Given the description of an element on the screen output the (x, y) to click on. 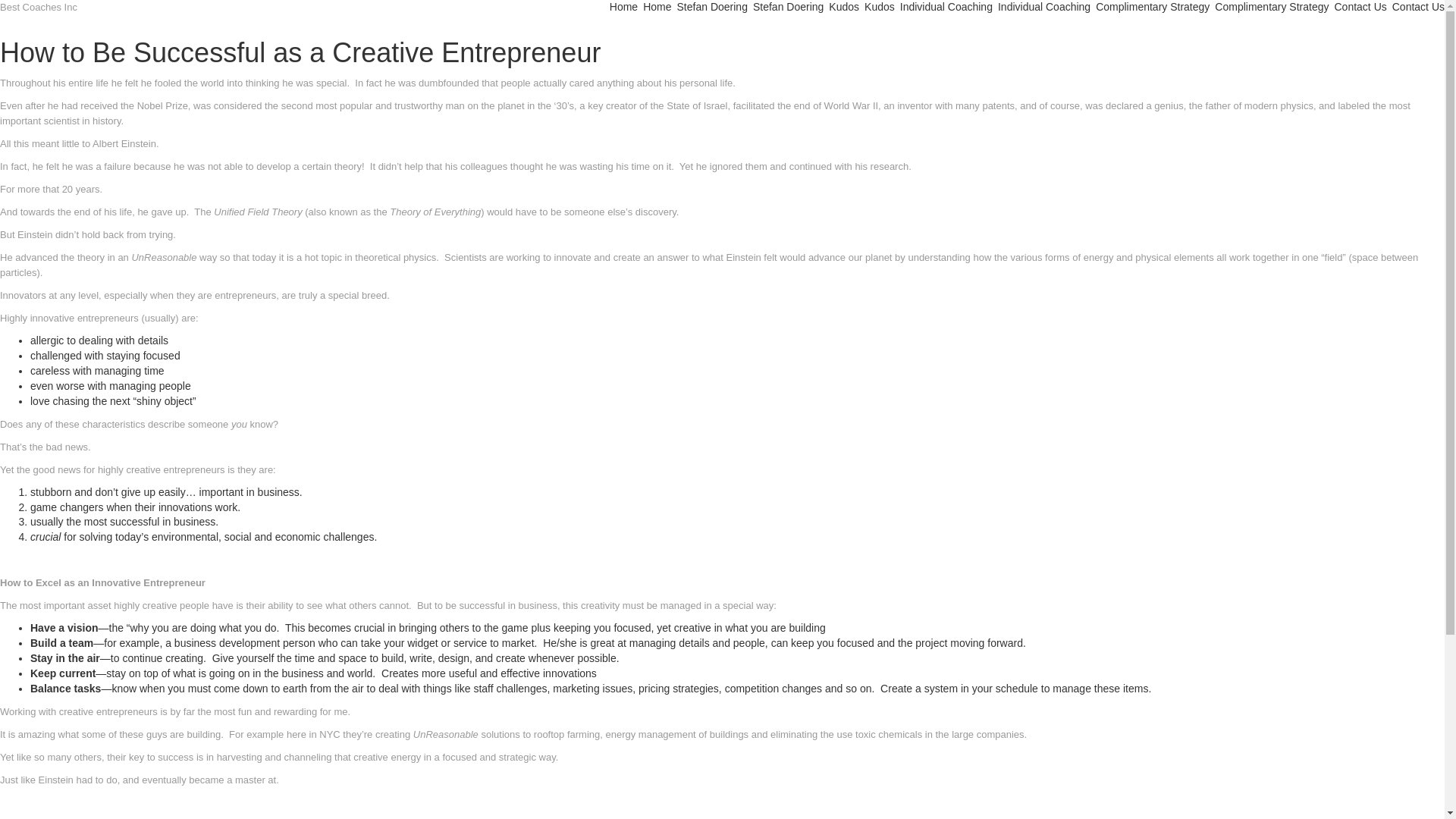
Home (623, 7)
Individual Coaching (945, 7)
Complimentary Strategy (1270, 7)
Complimentary Strategy (1152, 7)
Home (657, 7)
Contact Us (1361, 7)
Stefan Doering (712, 7)
Kudos (843, 7)
Stefan Doering (788, 7)
Kudos (879, 7)
Unified Field Theory (257, 211)
Best Coaches Inc (38, 7)
Individual Coaching (1043, 7)
